Given the description of an element on the screen output the (x, y) to click on. 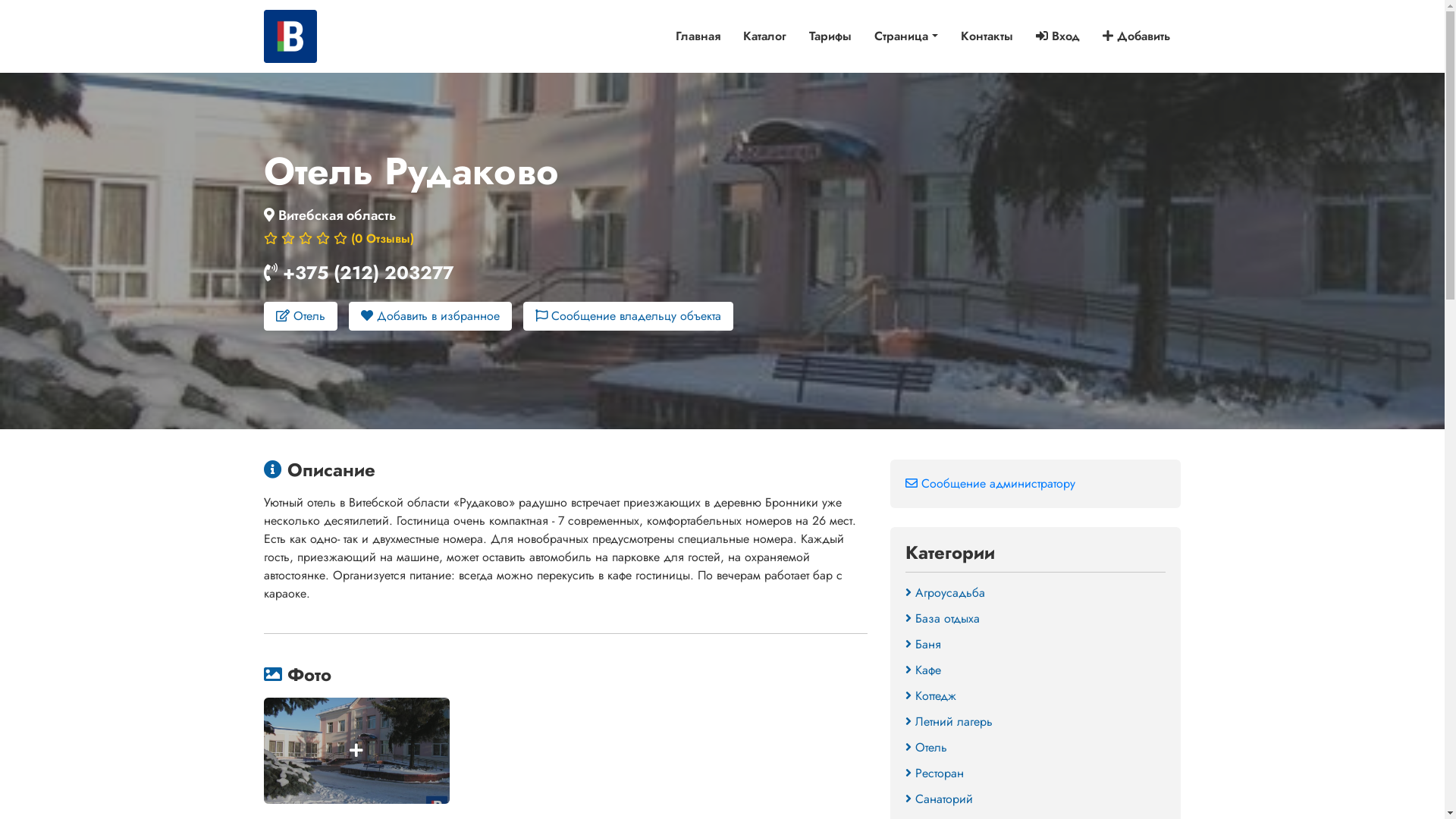
+375 (212) 203277 Element type: text (367, 272)
